Given the description of an element on the screen output the (x, y) to click on. 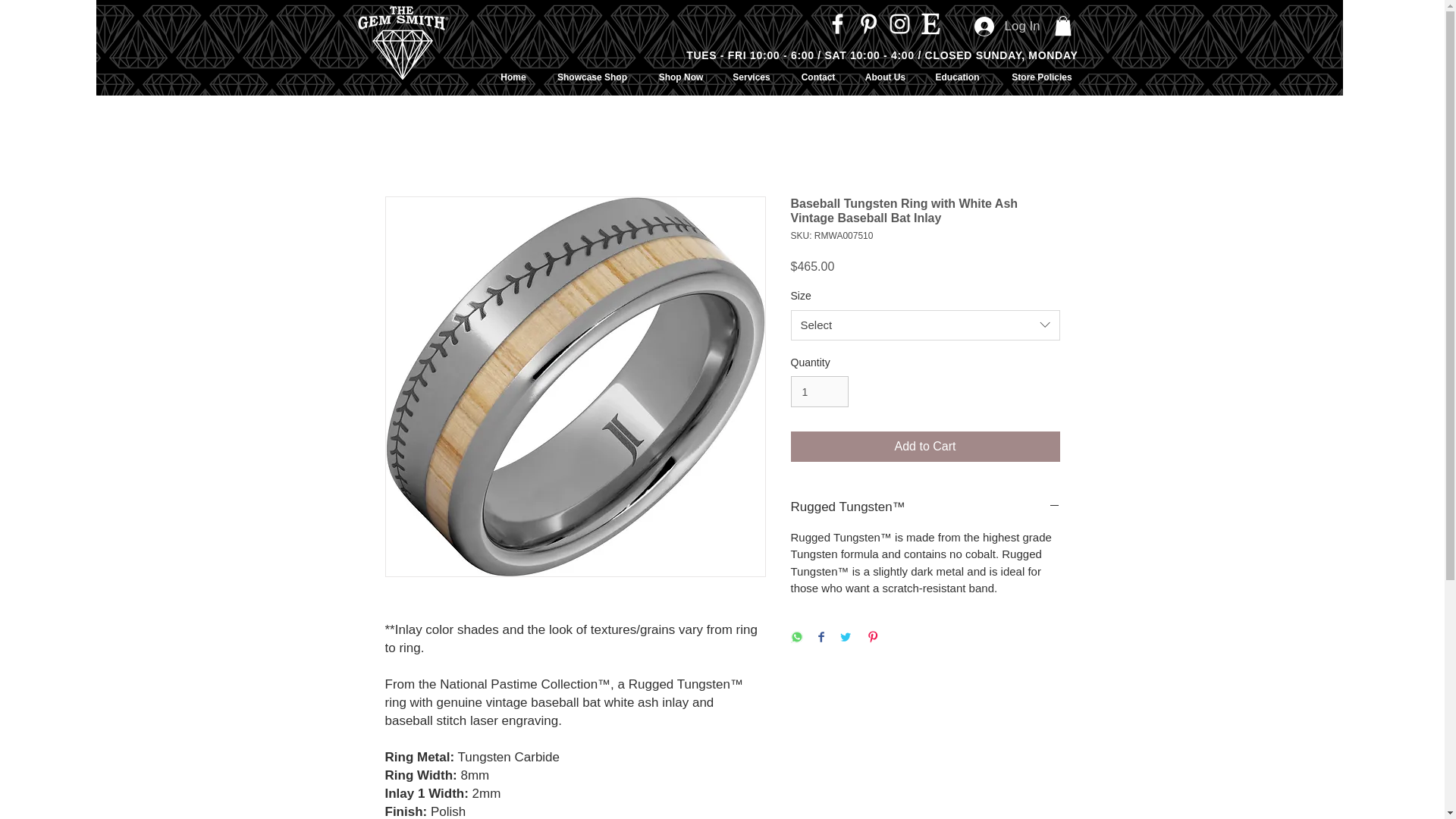
Services (750, 76)
About Us (884, 76)
Store Policies (1040, 76)
Education (956, 76)
Log In (1005, 26)
Add to Cart (924, 446)
Select (924, 325)
Contact (818, 76)
Home (513, 76)
1 (818, 391)
